Given the description of an element on the screen output the (x, y) to click on. 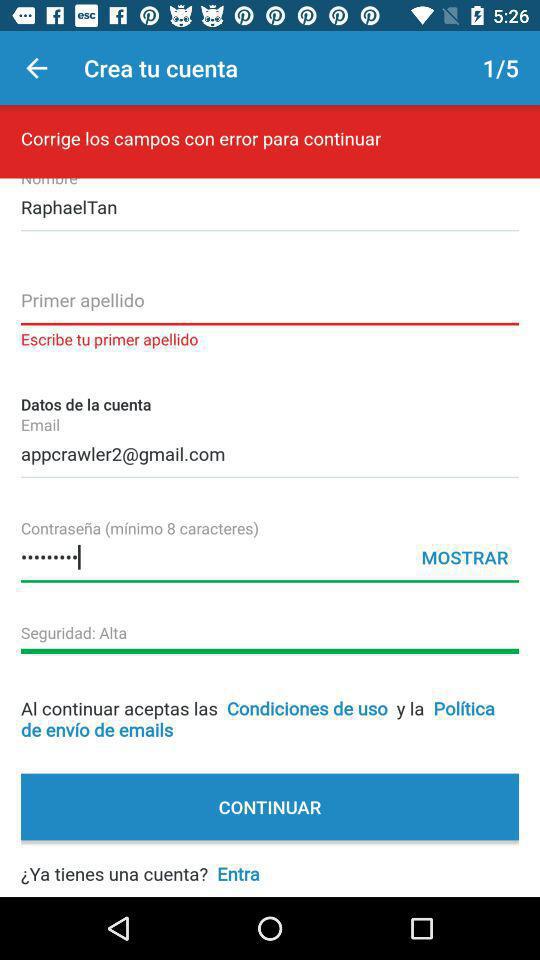
insert name (270, 306)
